Given the description of an element on the screen output the (x, y) to click on. 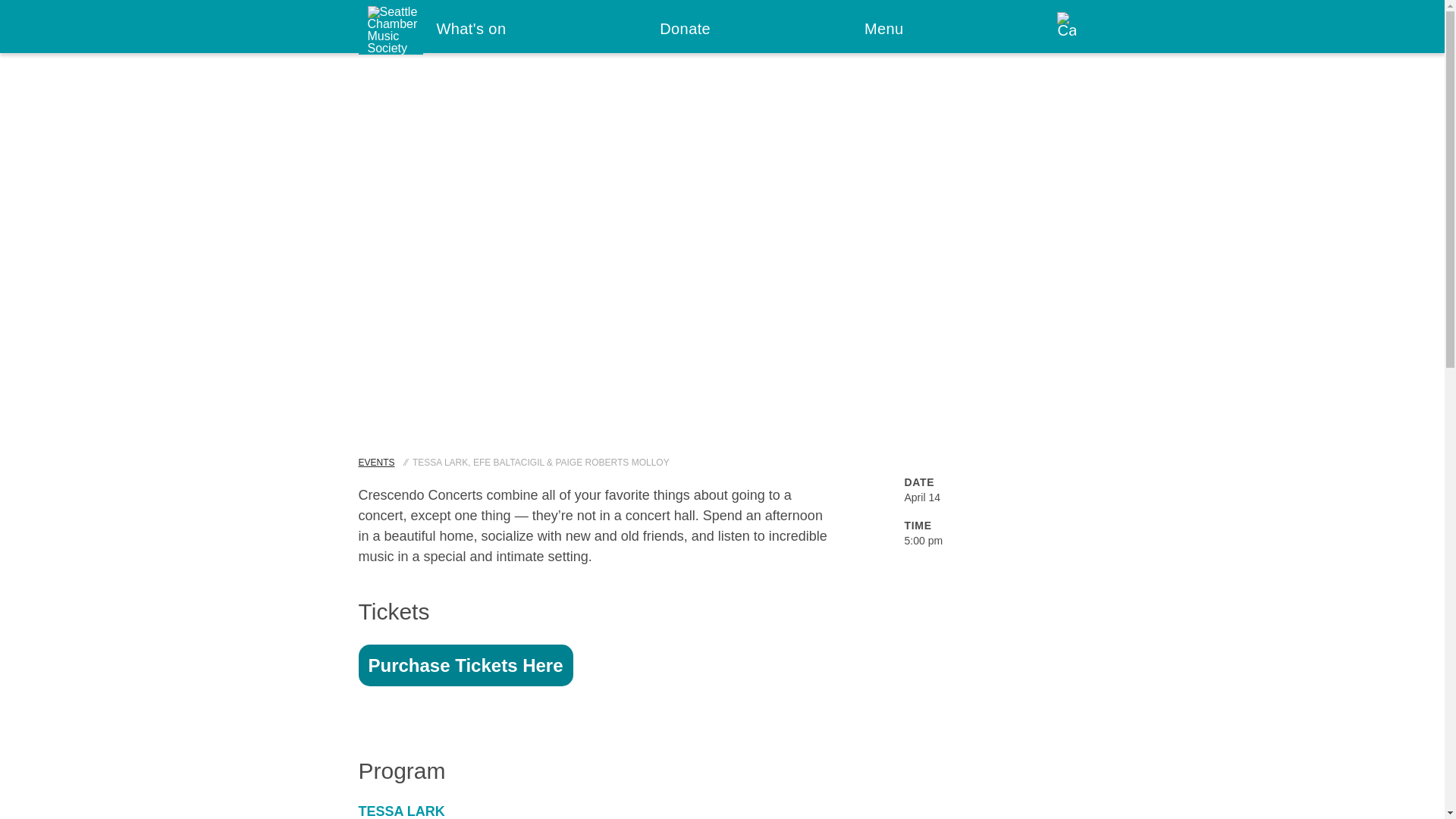
What's on (471, 30)
Donate (684, 30)
Menu (884, 30)
